Given the description of an element on the screen output the (x, y) to click on. 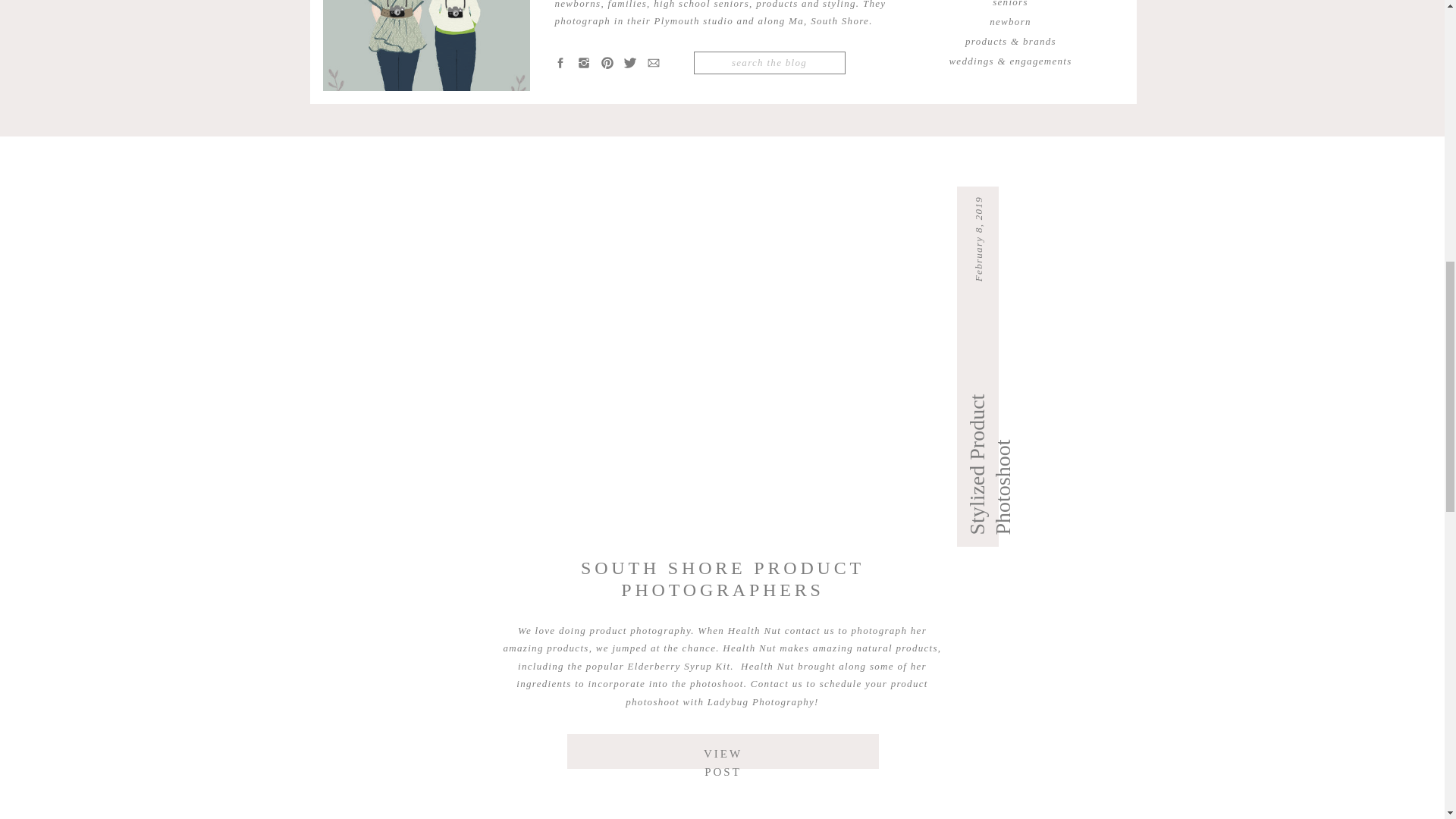
VIEW POST (722, 750)
Stylized Product Photoshoot (1034, 418)
SOUTH SHORE PRODUCT PHOTOGRAPHERS (722, 578)
South Shore Product Photographers (722, 750)
